Given the description of an element on the screen output the (x, y) to click on. 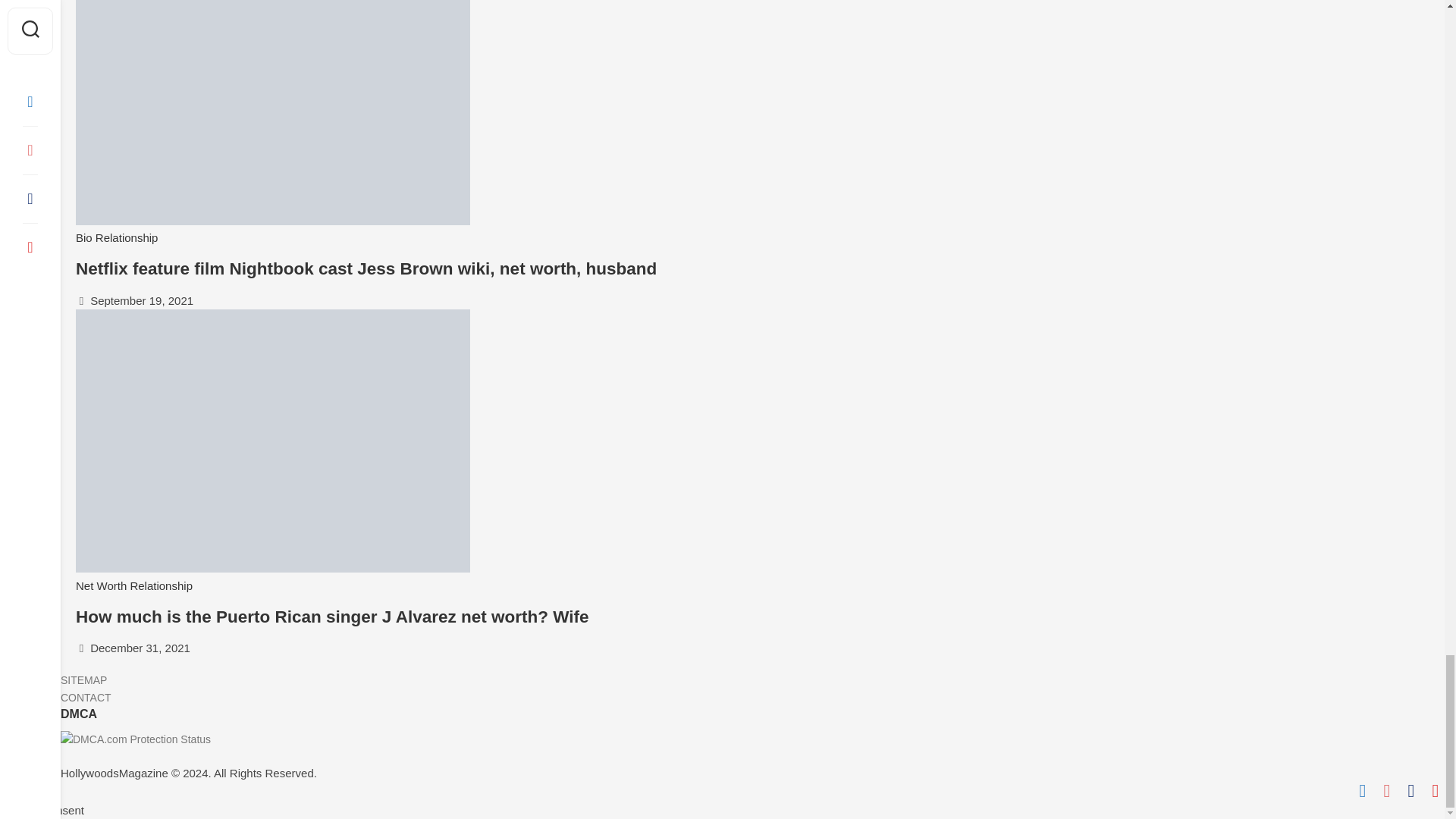
DMCA.com Protection Status (136, 739)
Tumblr (1411, 791)
Reddit (1386, 791)
Facebook (1362, 791)
